Given the description of an element on the screen output the (x, y) to click on. 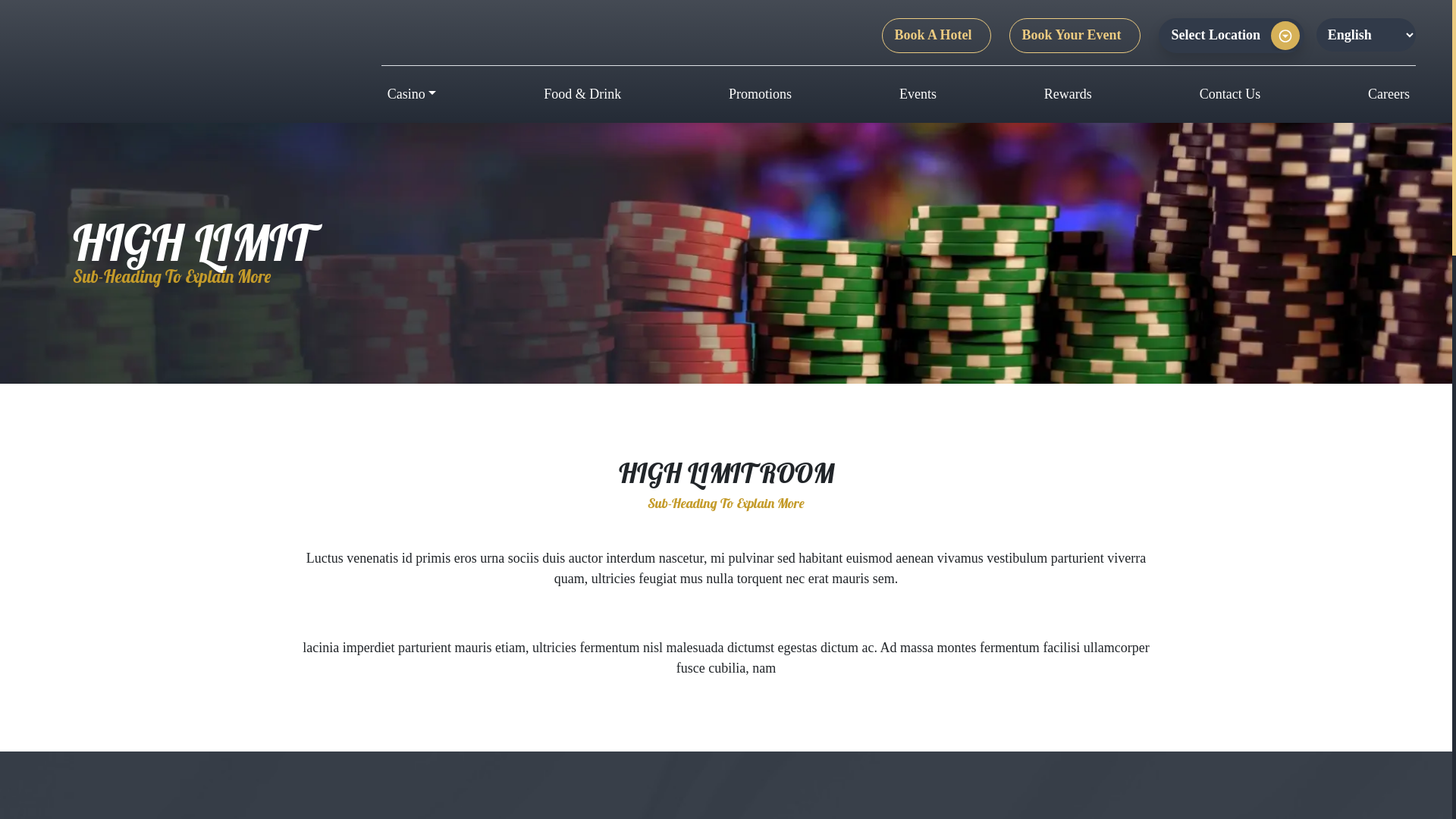
Book Your Event Element type: text (1074, 35)
Food & Drink Element type: text (582, 94)
Book A Hotel Element type: text (936, 35)
Promotions Element type: text (759, 94)
Casino Element type: text (411, 94)
Events Element type: text (917, 94)
Contact Us Element type: text (1230, 94)
Rewards Element type: text (1068, 94)
Select Location Element type: text (1231, 35)
Careers Element type: text (1388, 94)
